Given the description of an element on the screen output the (x, y) to click on. 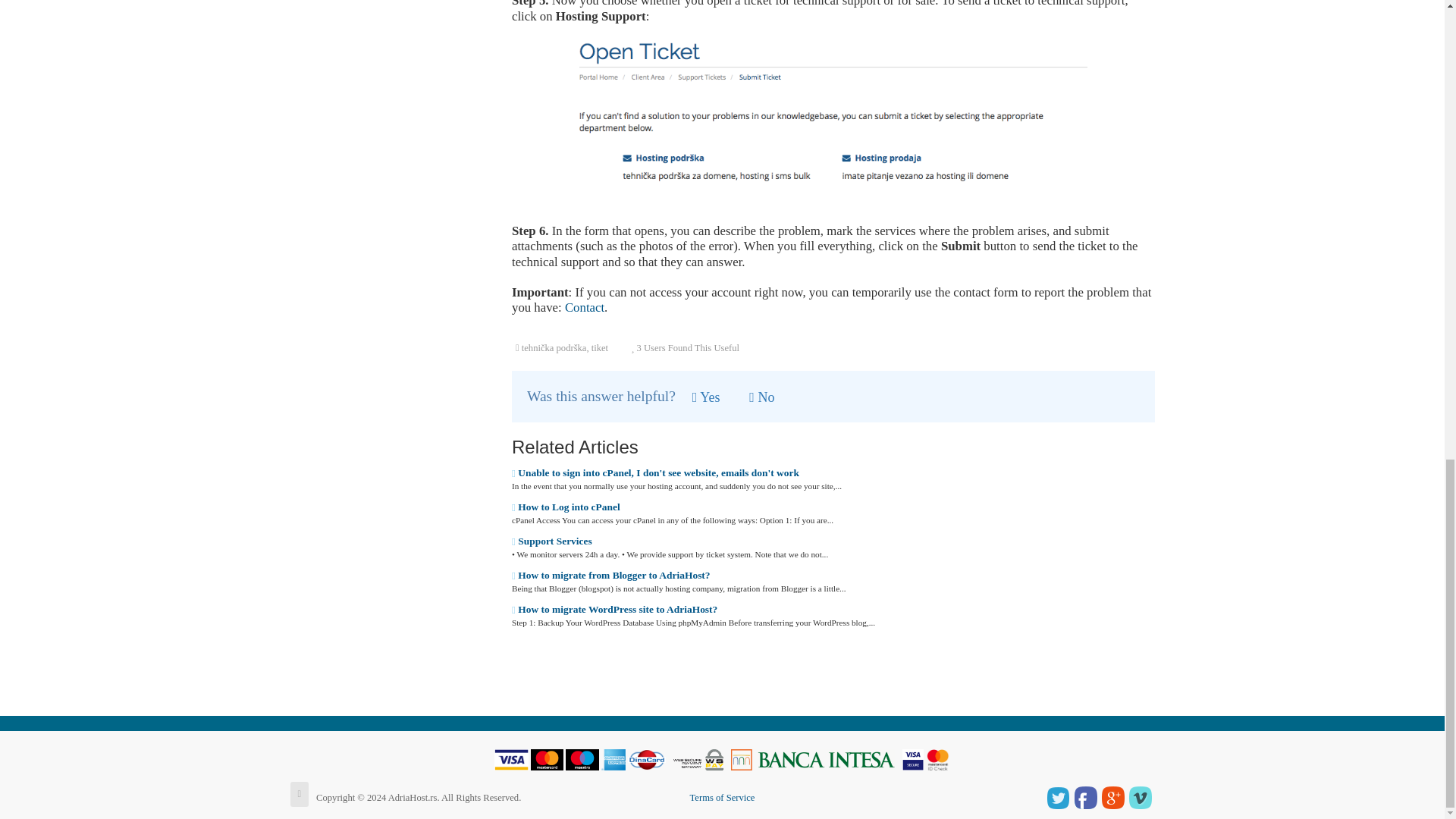
Contact (584, 307)
WSpay - Web Secure Payment Gateway (697, 757)
